Given the description of an element on the screen output the (x, y) to click on. 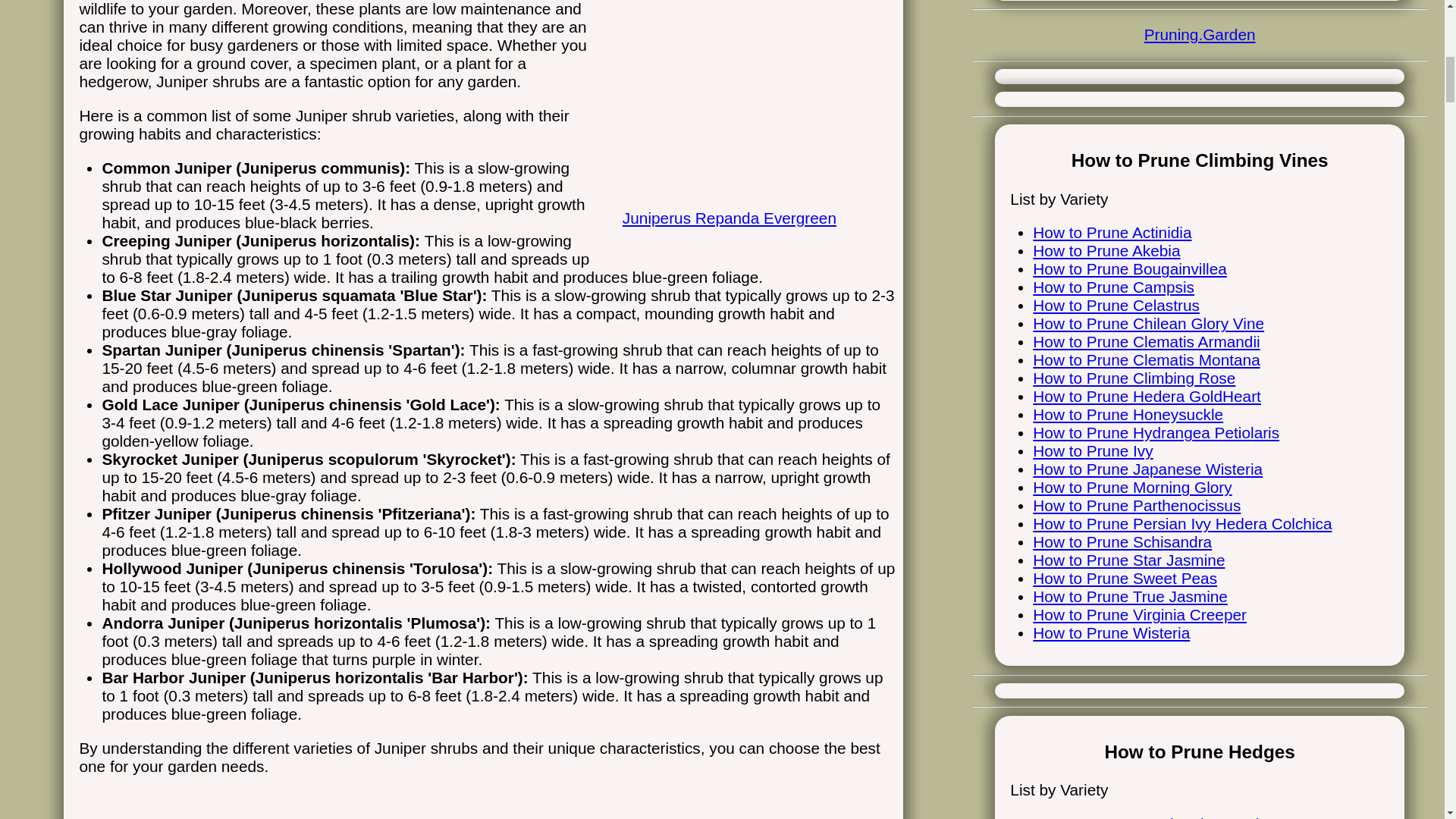
Juniperus Repanda Evergreen (747, 201)
